Given the description of an element on the screen output the (x, y) to click on. 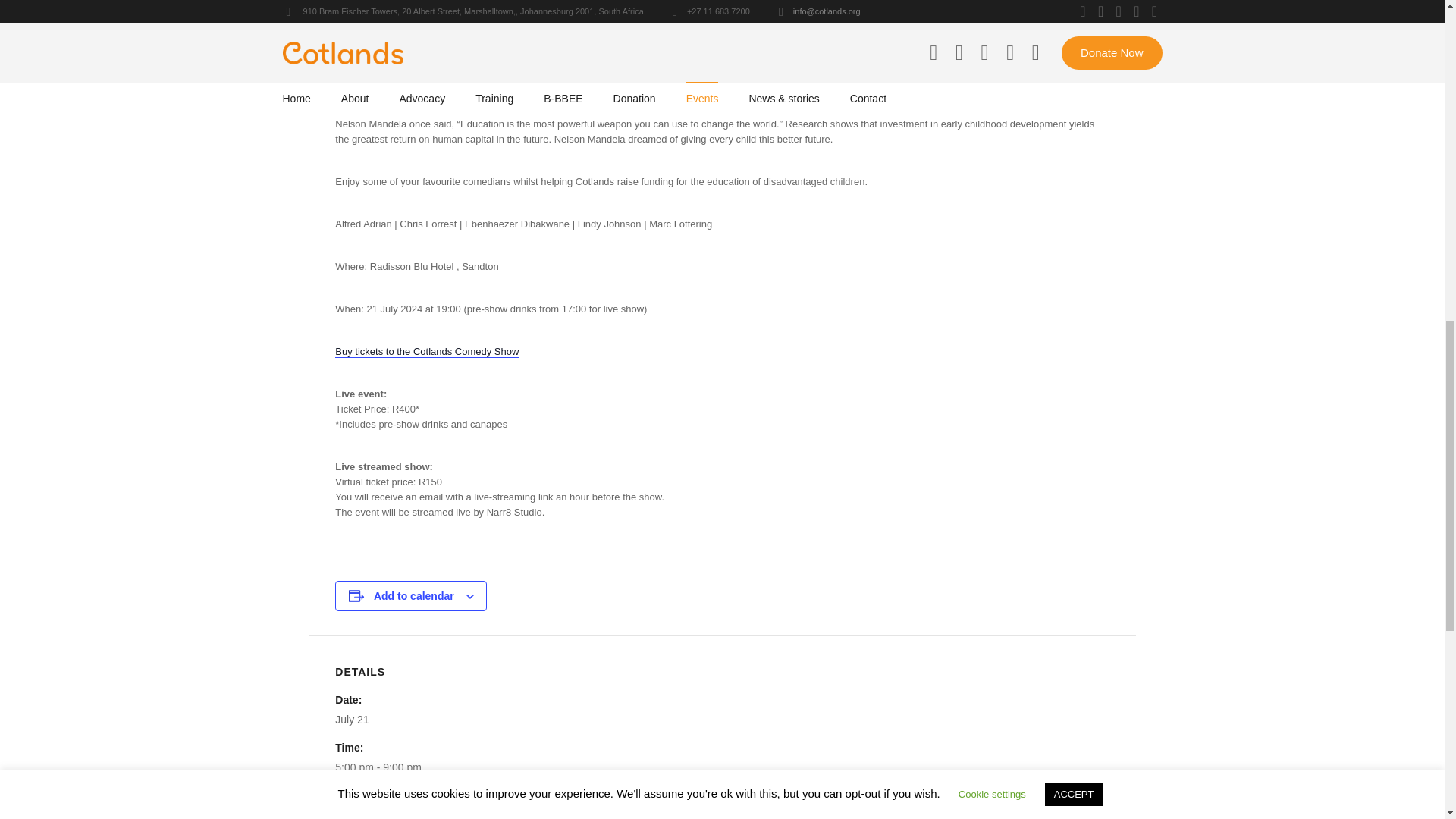
2024-07-21 (351, 719)
